Given the description of an element on the screen output the (x, y) to click on. 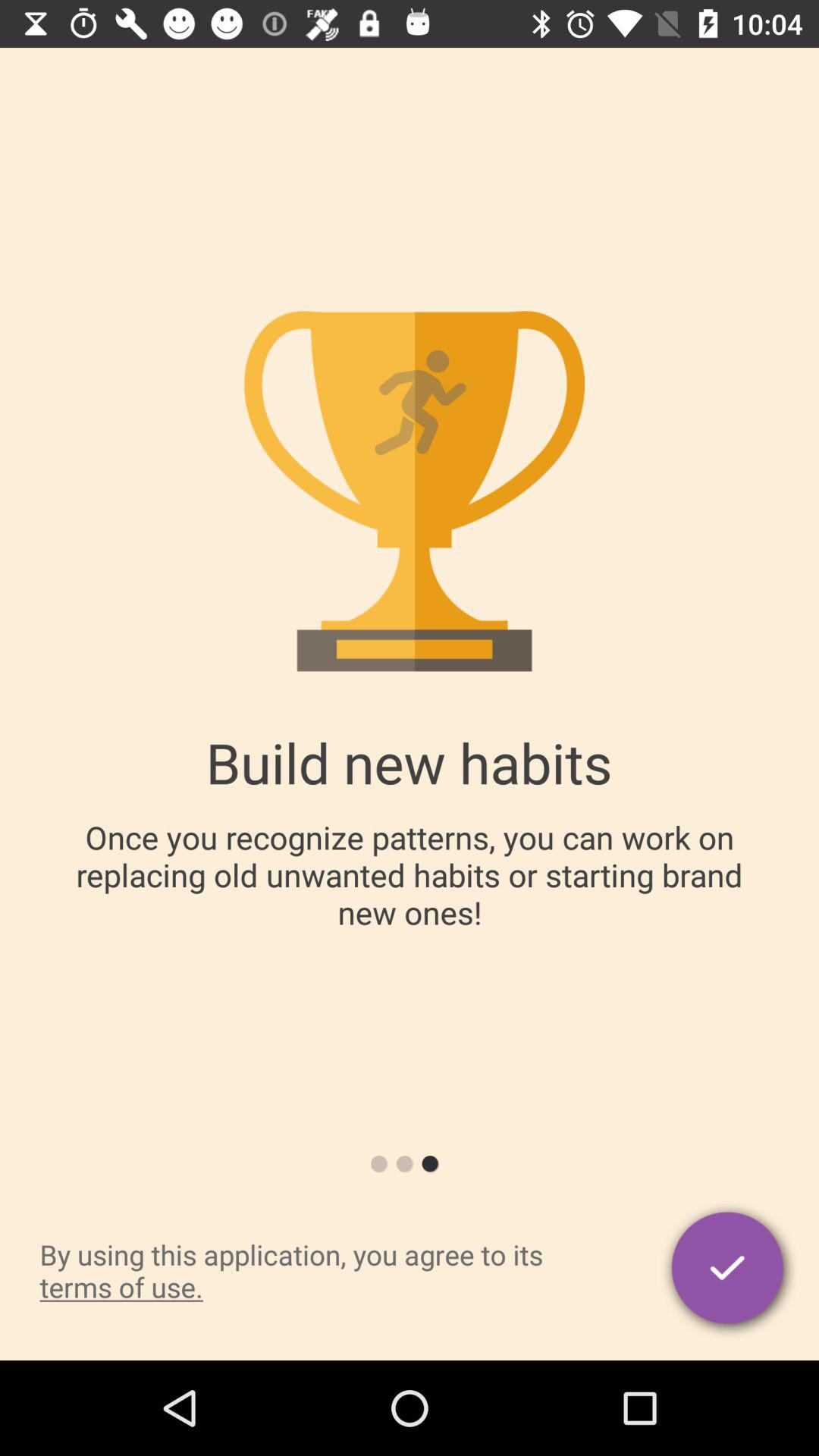
right (729, 1270)
